Given the description of an element on the screen output the (x, y) to click on. 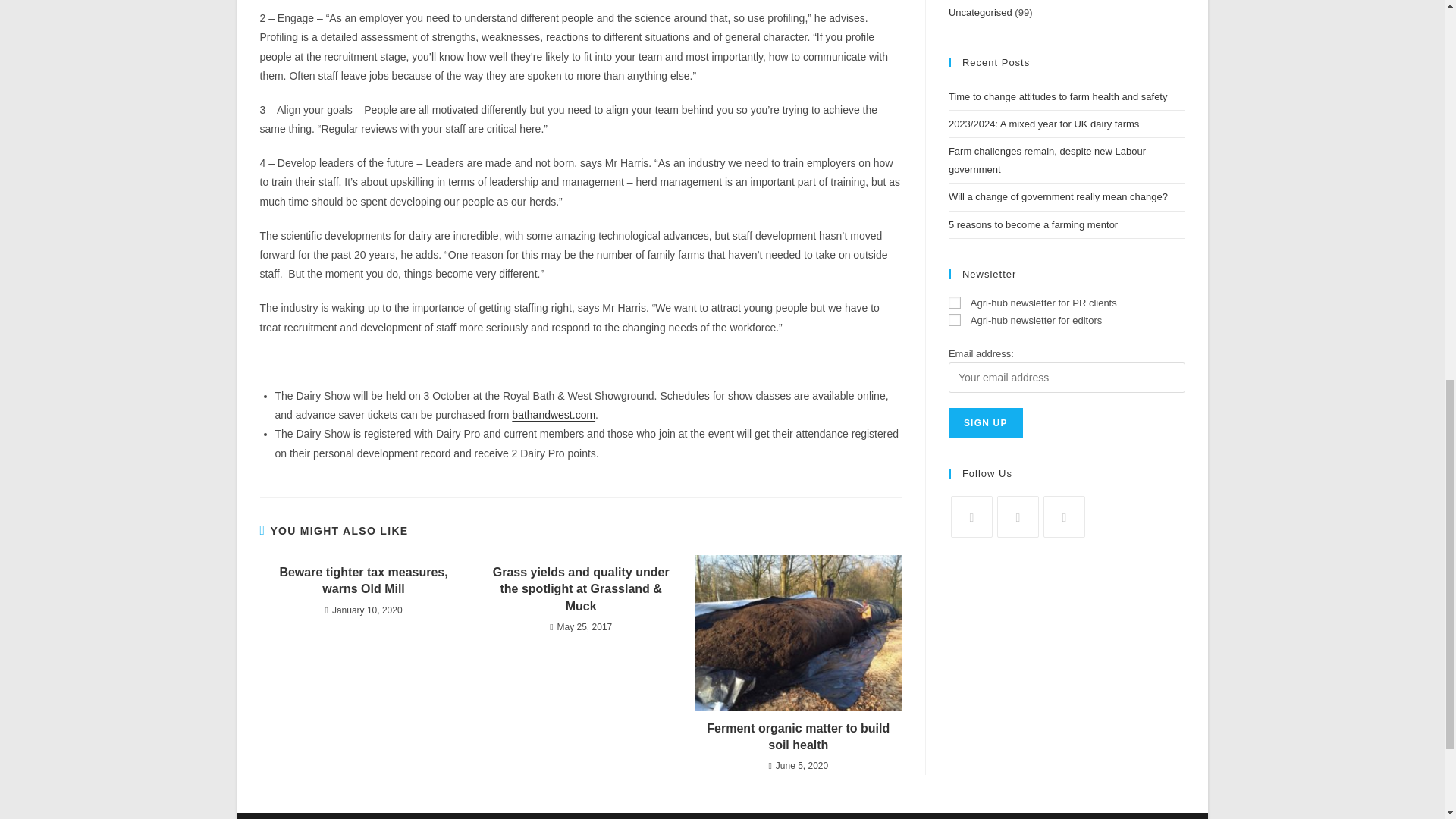
e2fcf9ae63 (954, 302)
Sign up (986, 422)
2a5121b343 (954, 319)
